Given the description of an element on the screen output the (x, y) to click on. 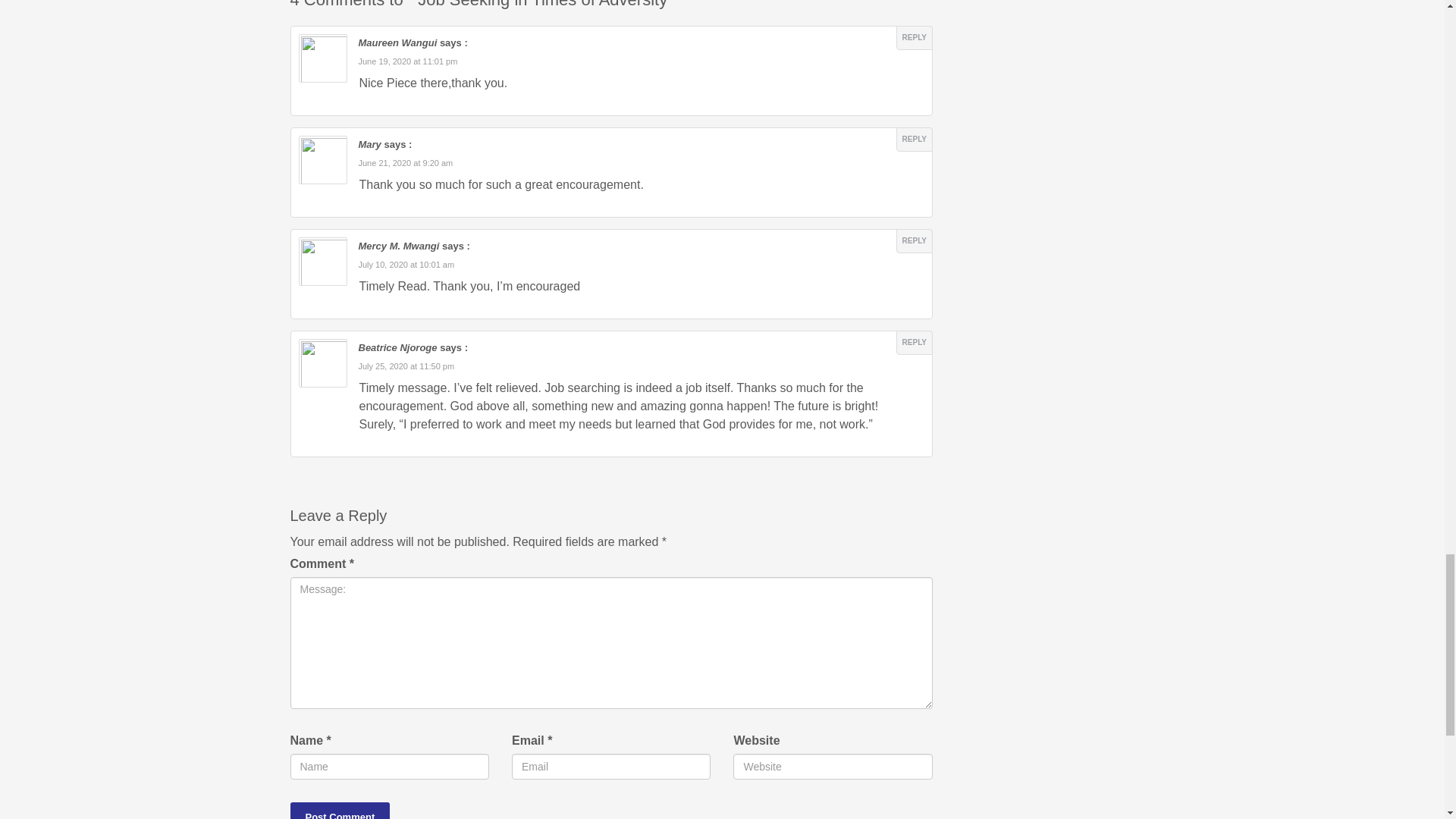
Post Comment (339, 810)
